Given the description of an element on the screen output the (x, y) to click on. 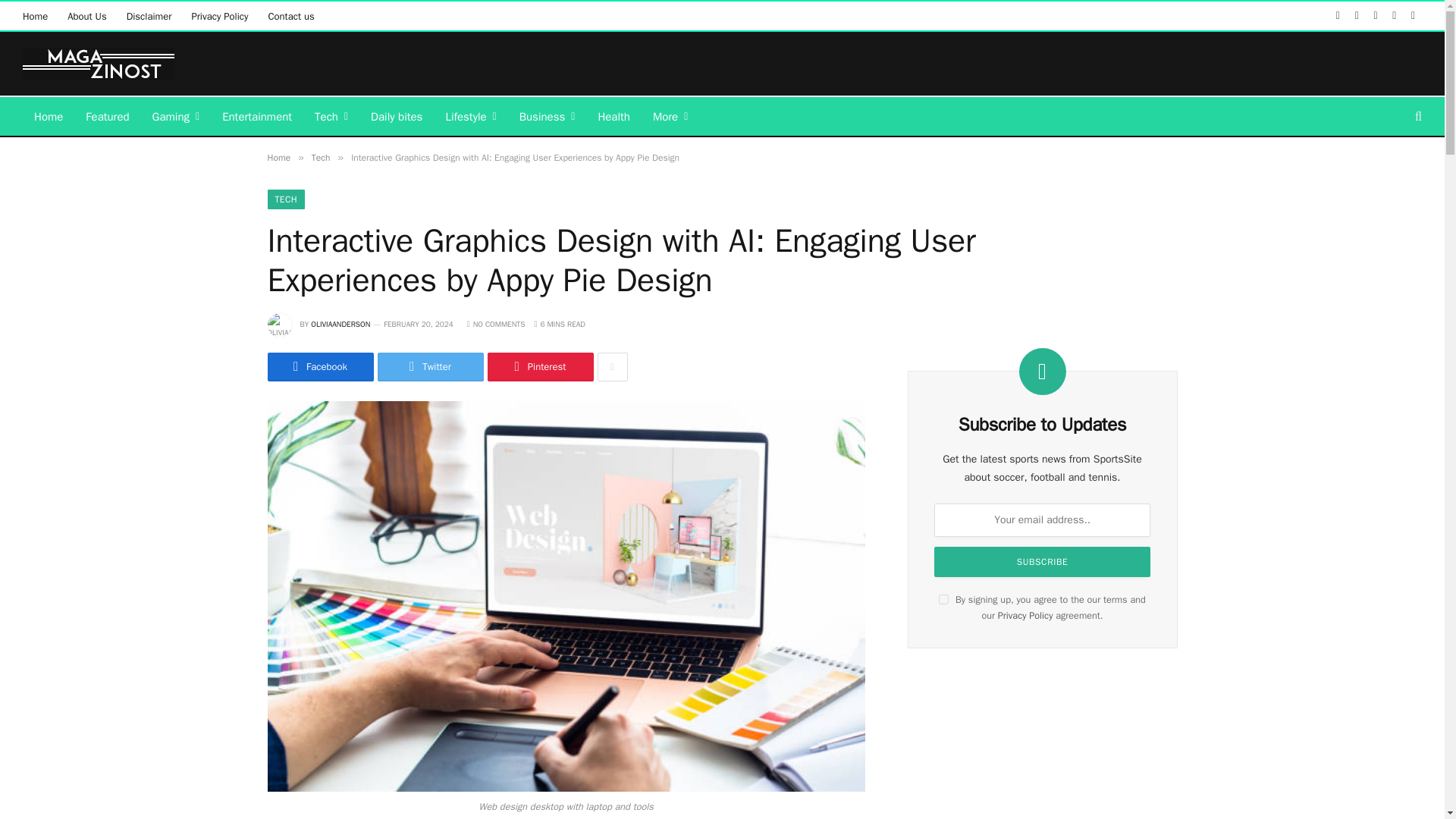
Lifestyle (469, 116)
Contact us (290, 15)
Daily bites (396, 116)
Share on Facebook (319, 366)
Business (547, 116)
Share on Pinterest (539, 366)
Tech (330, 116)
Health (614, 116)
Privacy Policy (218, 15)
Home (48, 116)
